Given the description of an element on the screen output the (x, y) to click on. 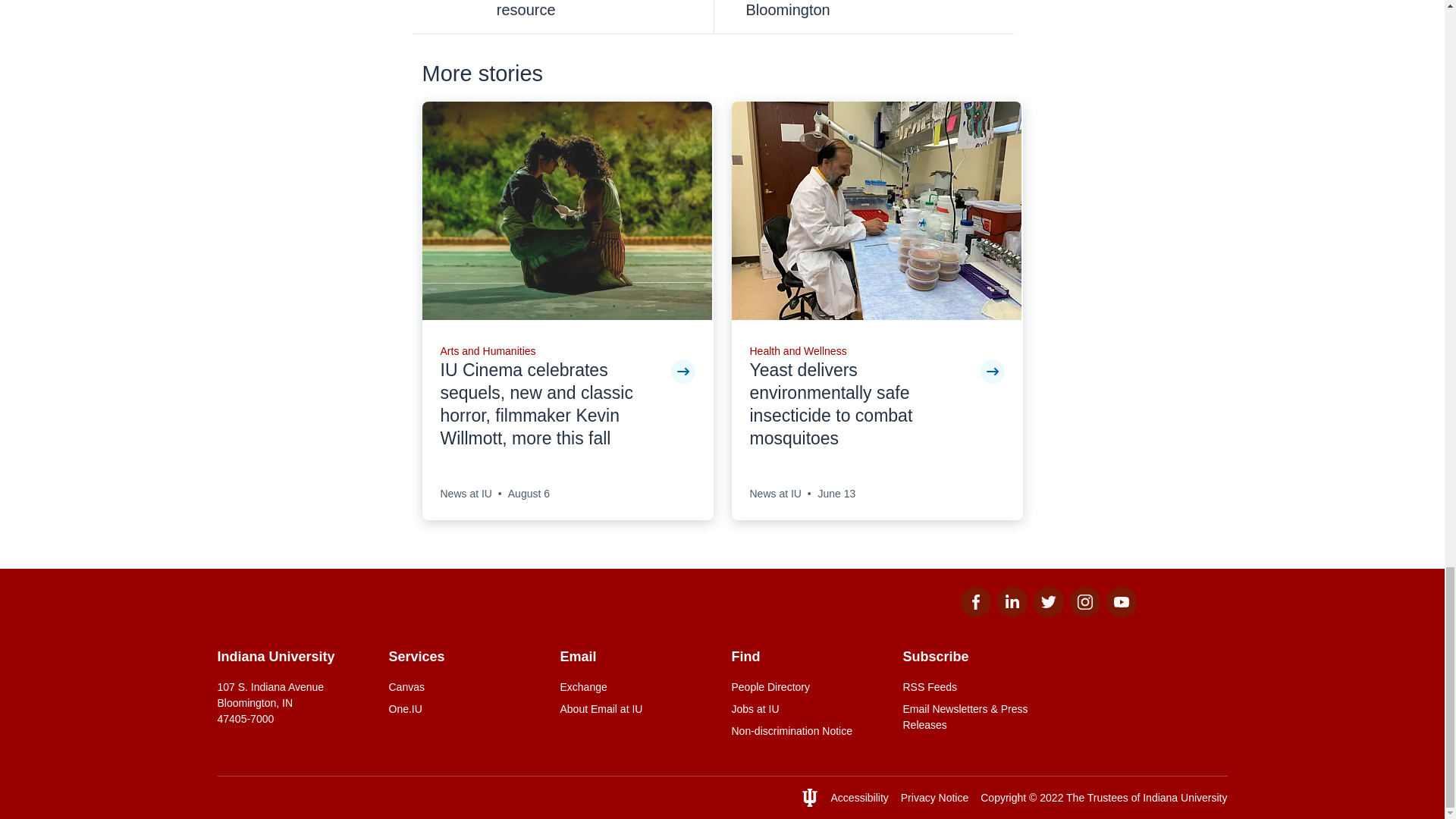
Non-discrimination Notice (806, 731)
Privacy Notice (934, 797)
Indiana University (1184, 797)
About Email at IU (636, 709)
Copyright (1002, 797)
One.IU (464, 709)
Instagram for IU (1083, 612)
